Given the description of an element on the screen output the (x, y) to click on. 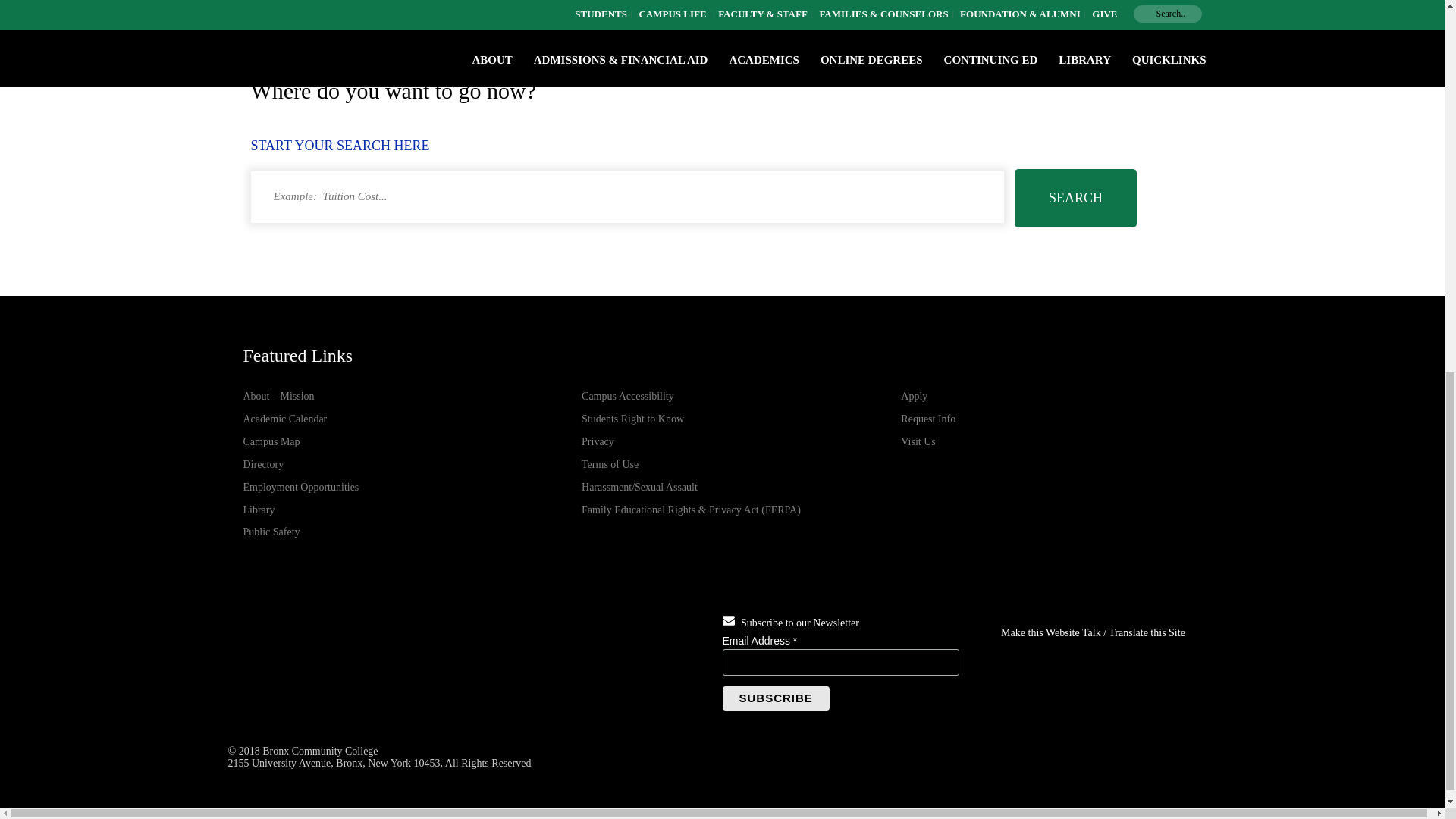
Public Safety (271, 531)
Subscribe (775, 698)
Campus Accessibility (627, 396)
Terms of Use (609, 464)
Search for: (626, 196)
BCC Community Logo (321, 663)
Campus Map (271, 441)
Academic Calendar (284, 419)
Privacy (597, 441)
Students Right to Know (632, 419)
Employment Opportunities (300, 487)
Search (1075, 197)
Library (259, 509)
Directory (263, 464)
Search (1075, 197)
